Given the description of an element on the screen output the (x, y) to click on. 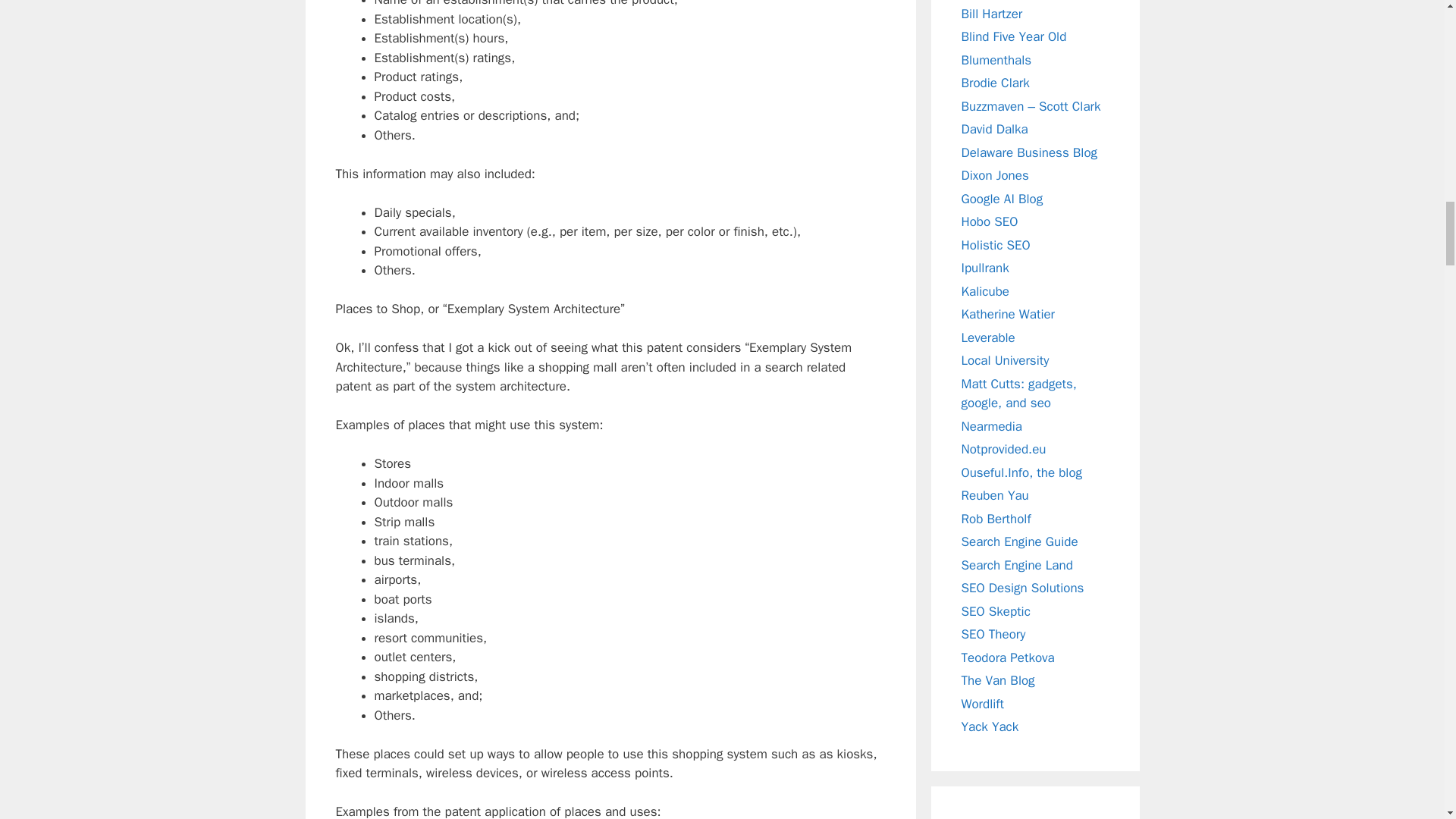
Koray Gubur (995, 244)
Jason Barnard (984, 291)
